Given the description of an element on the screen output the (x, y) to click on. 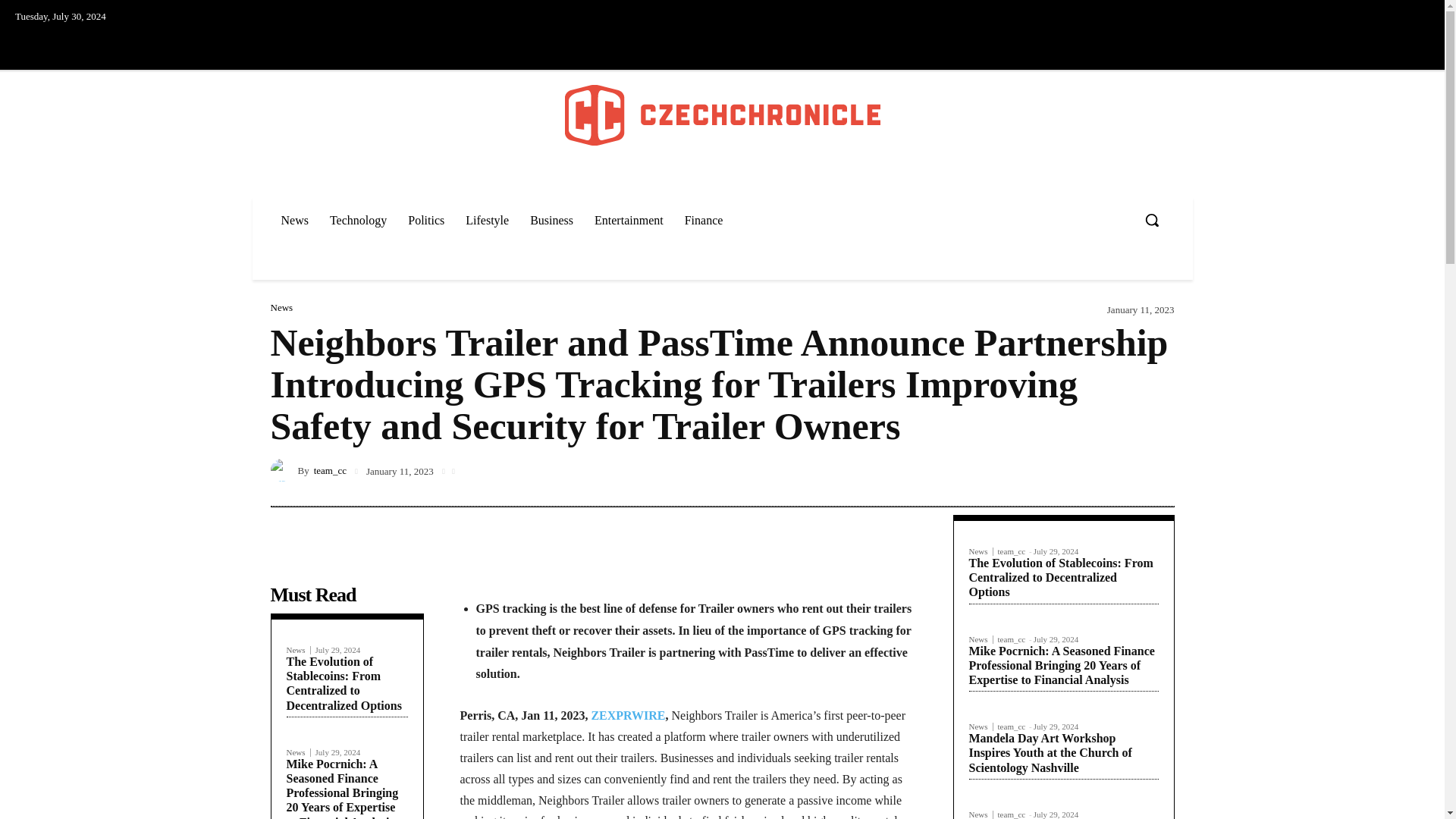
Politics (425, 220)
News (293, 220)
Lifestyle (486, 220)
Business (551, 220)
Finance (703, 220)
News (298, 752)
News (280, 307)
News (298, 650)
Technology (357, 220)
Entertainment (628, 220)
